Given the description of an element on the screen output the (x, y) to click on. 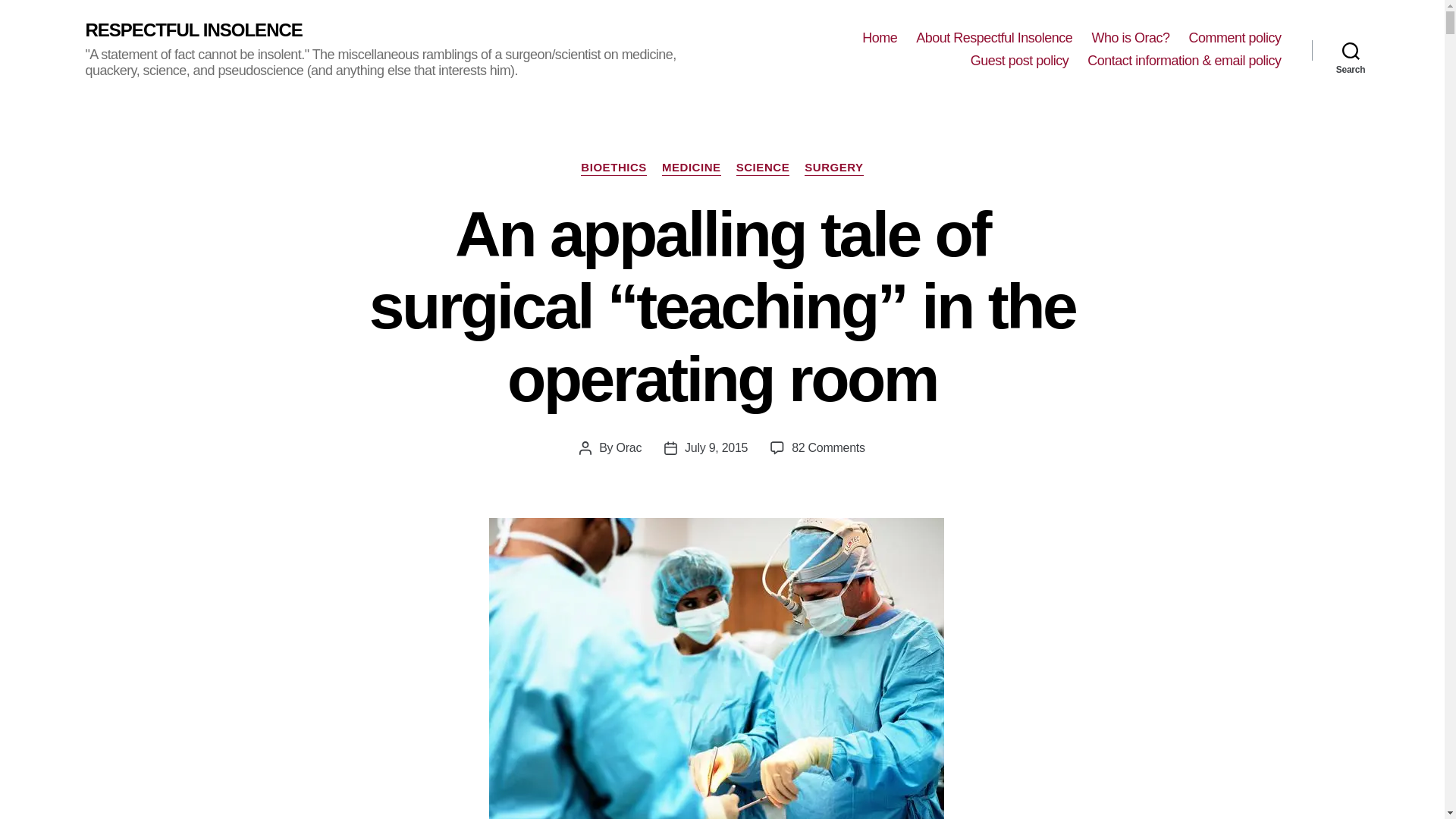
Guest post policy (1019, 61)
Search (1350, 49)
RESPECTFUL INSOLENCE (192, 30)
SURGERY (834, 168)
Who is Orac? (1129, 38)
Comment policy (1234, 38)
Home (878, 38)
BIOETHICS (613, 168)
SCIENCE (763, 168)
July 9, 2015 (716, 447)
About Respectful Insolence (993, 38)
MEDICINE (691, 168)
Orac (628, 447)
